Given the description of an element on the screen output the (x, y) to click on. 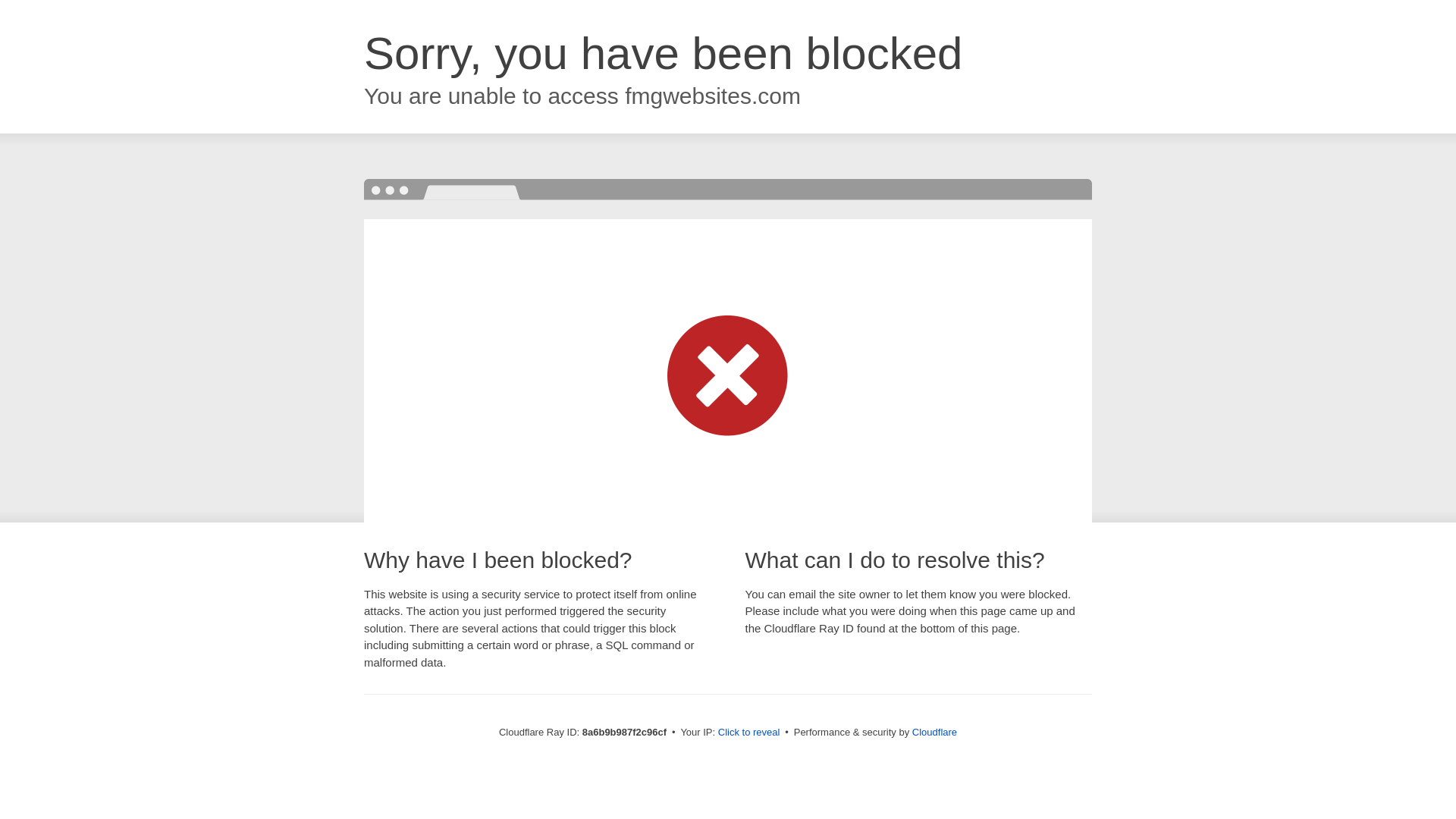
Click to reveal (748, 732)
Cloudflare (934, 731)
